Given the description of an element on the screen output the (x, y) to click on. 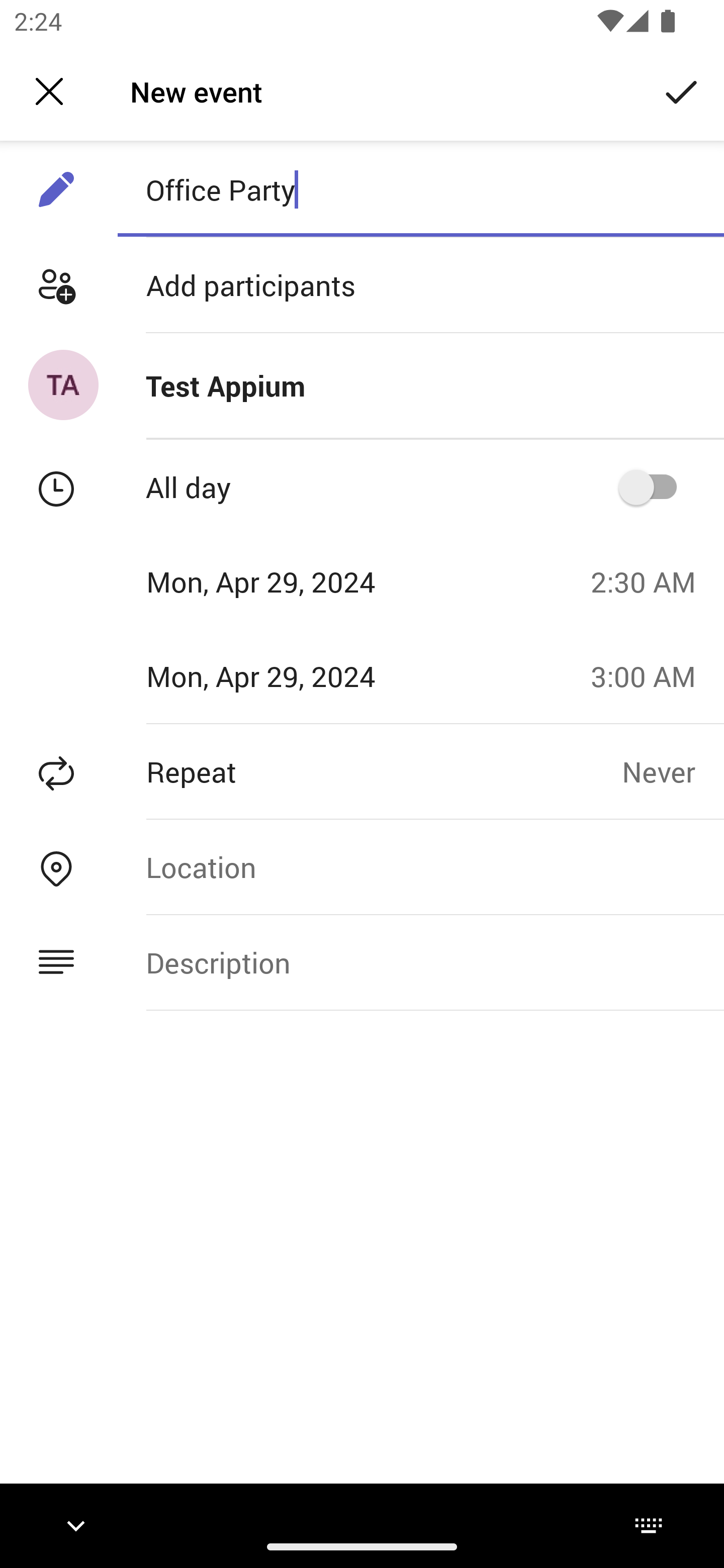
Back (49, 91)
Send invite (681, 90)
Office Party (420, 189)
Add participants Add participants option (362, 285)
All day (654, 486)
Mon, Apr 29, 2024 Starts Monday Apr 29, 2024 (288, 581)
2:30 AM Start time 2:30 AM (650, 581)
Mon, Apr 29, 2024 Ends Monday Apr 29, 2024 (288, 675)
3:00 AM End time 3:00 AM (650, 675)
Repeat (310, 771)
Never Repeat Never (672, 771)
Location (420, 867)
Description (420, 962)
